Given the description of an element on the screen output the (x, y) to click on. 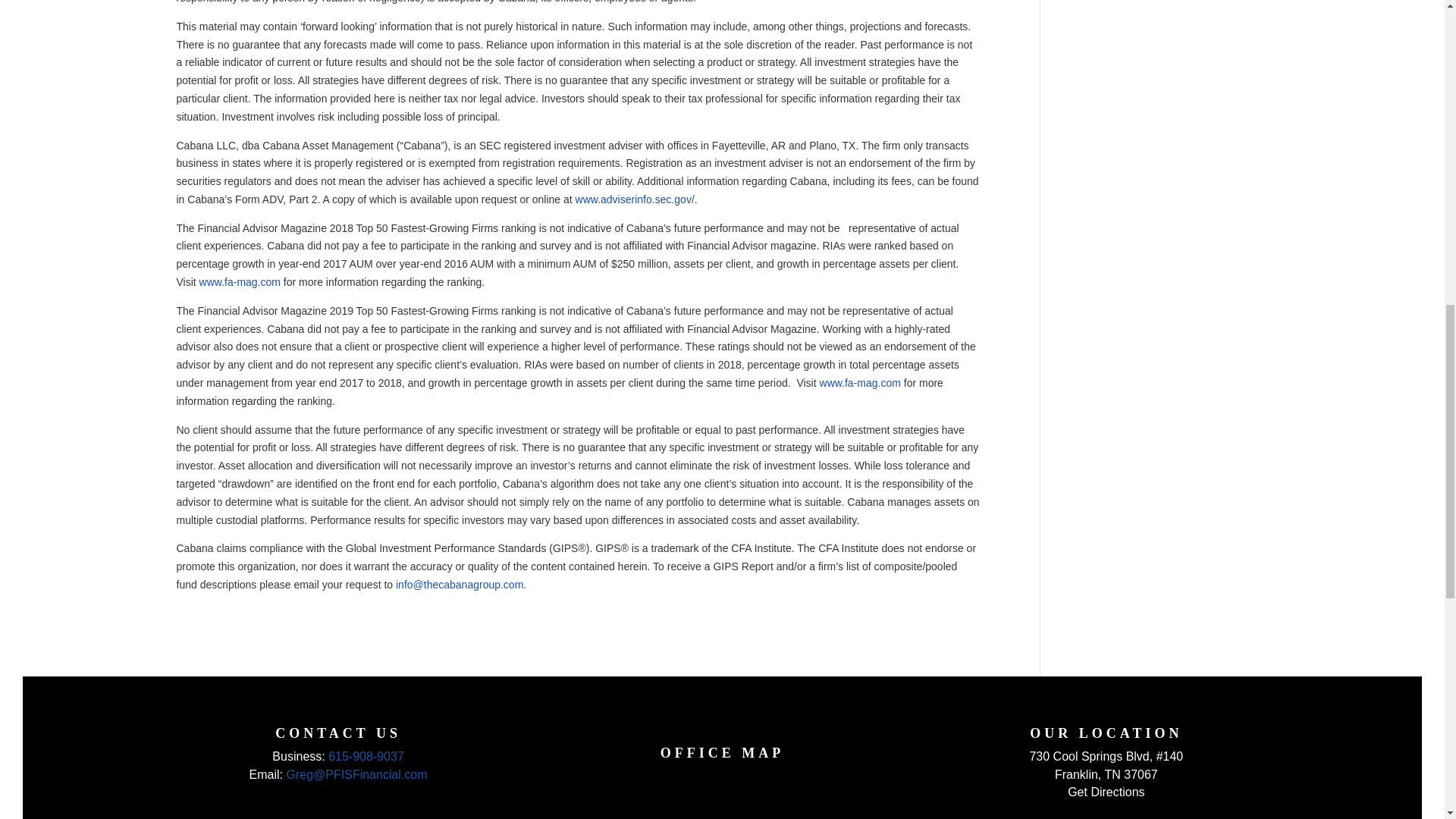
Get Directions (1105, 791)
www.fa-mag.com (860, 382)
Franklin, TN 37067 (1105, 774)
615-908-9037 (366, 756)
www.fa-mag.com (240, 282)
